Given the description of an element on the screen output the (x, y) to click on. 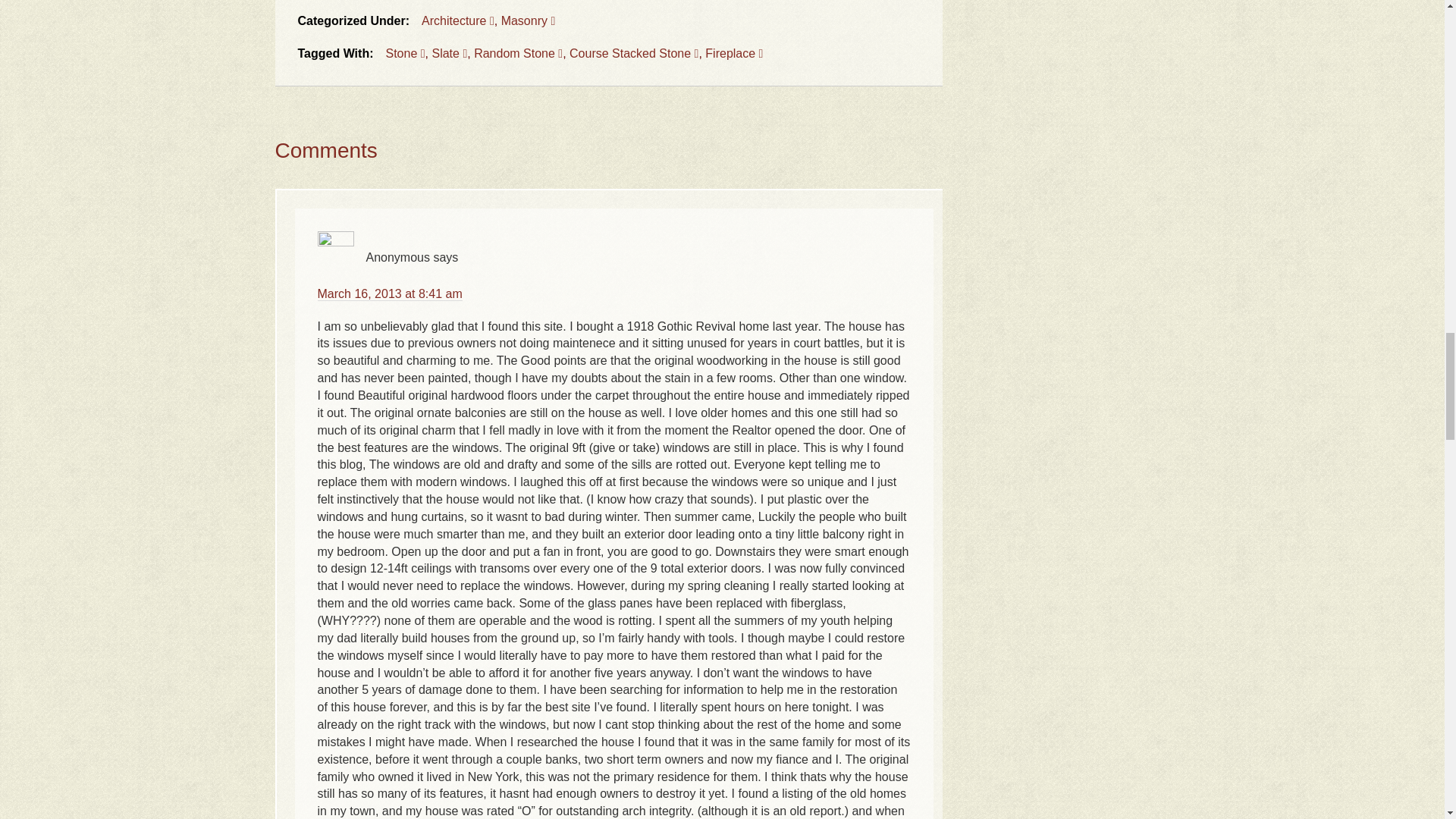
Architecture (458, 20)
